Given the description of an element on the screen output the (x, y) to click on. 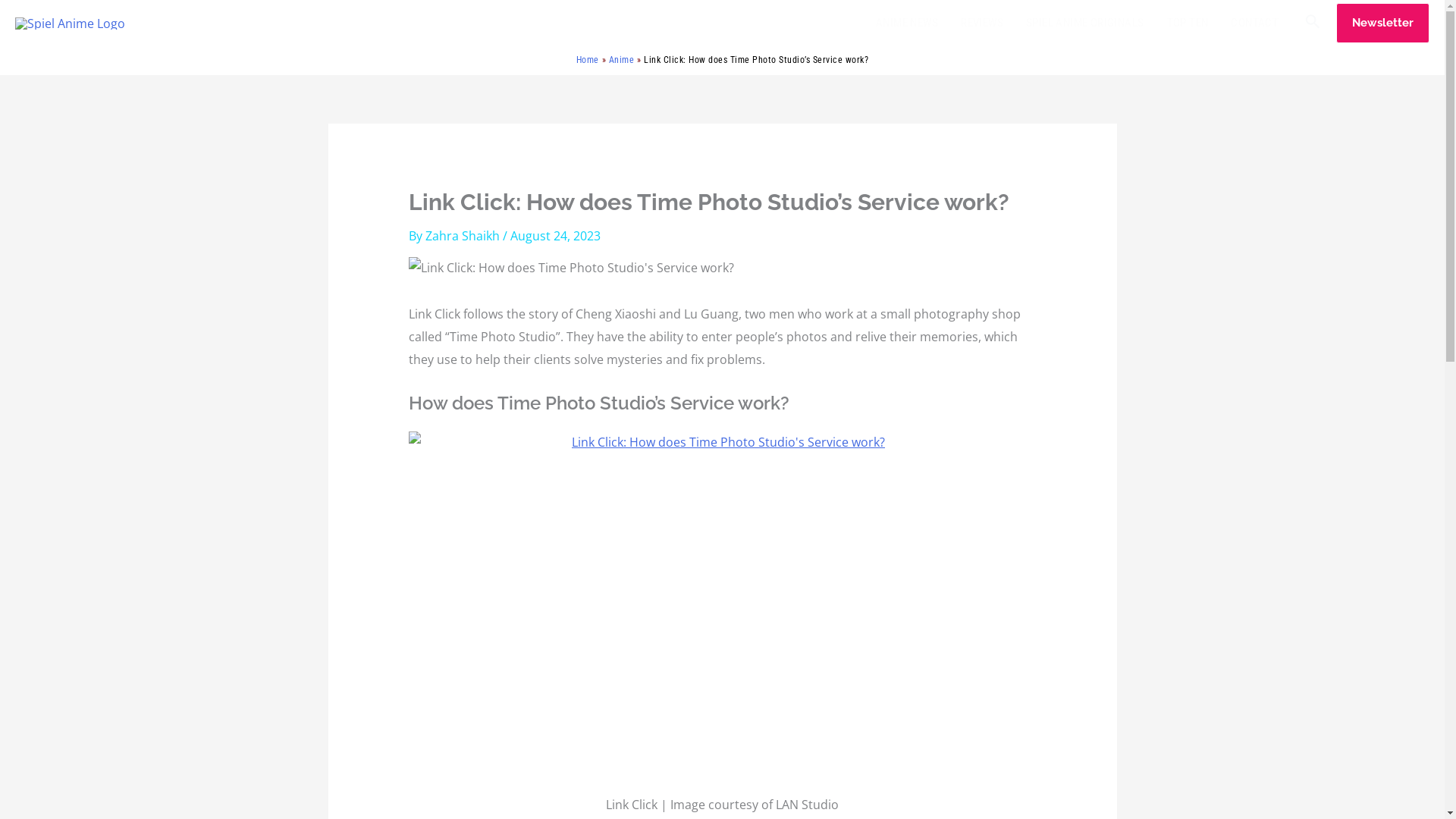
Zahra Shaikh (463, 235)
ANIME NEWS (906, 22)
Newsletter (1382, 23)
REVIEWS (981, 22)
View all posts by Zahra Shaikh (463, 235)
Home (587, 59)
Search (1312, 23)
Anime (621, 59)
SPIEL ANIME ORIGINALS (1085, 22)
CONTACT (1255, 22)
TOP TEN (1187, 22)
